Given the description of an element on the screen output the (x, y) to click on. 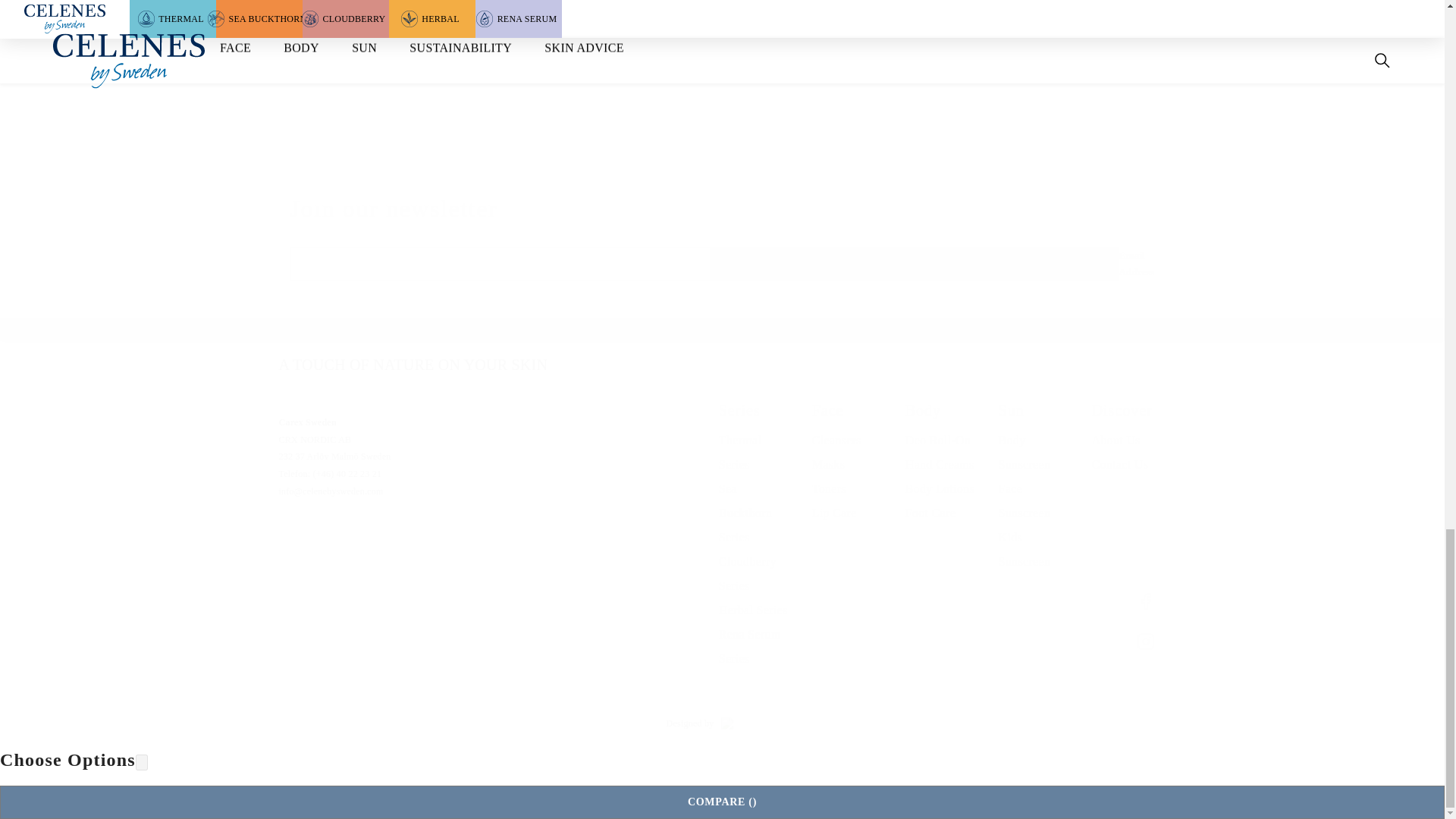
Email Address (721, 263)
